Given the description of an element on the screen output the (x, y) to click on. 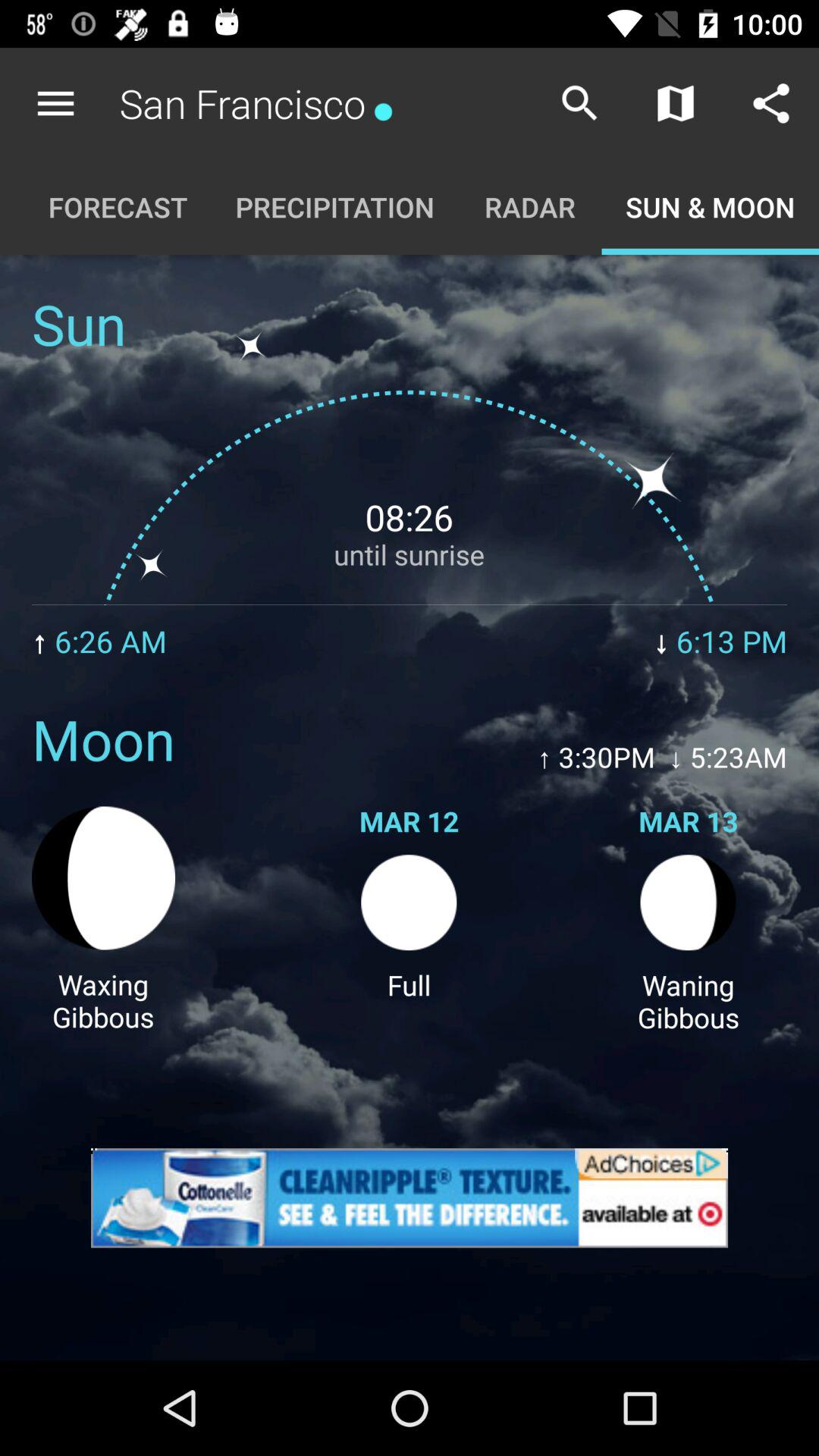
launch app next to the san francisco* item (579, 103)
